Given the description of an element on the screen output the (x, y) to click on. 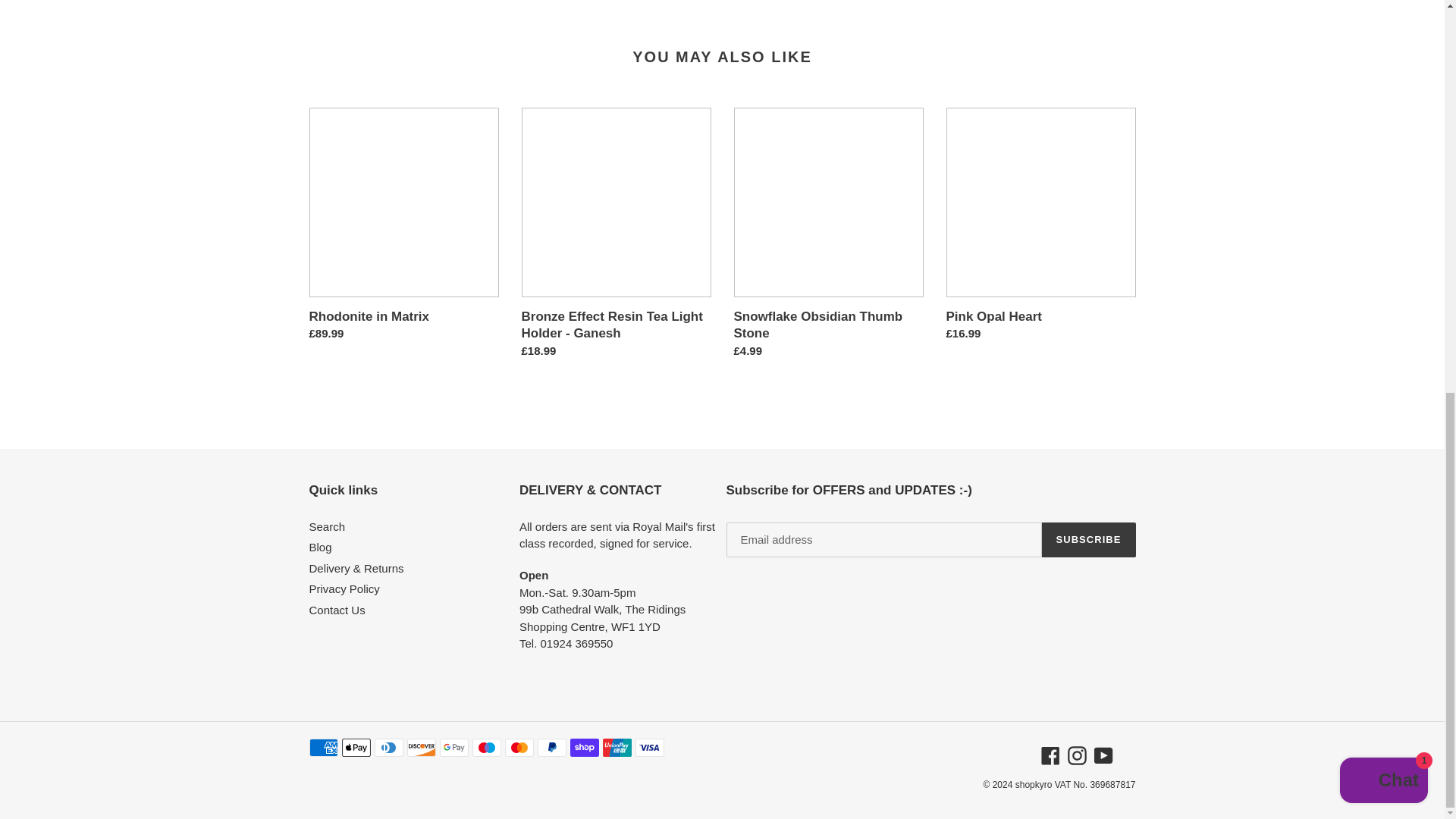
Shopify online store chat (1383, 29)
